Given the description of an element on the screen output the (x, y) to click on. 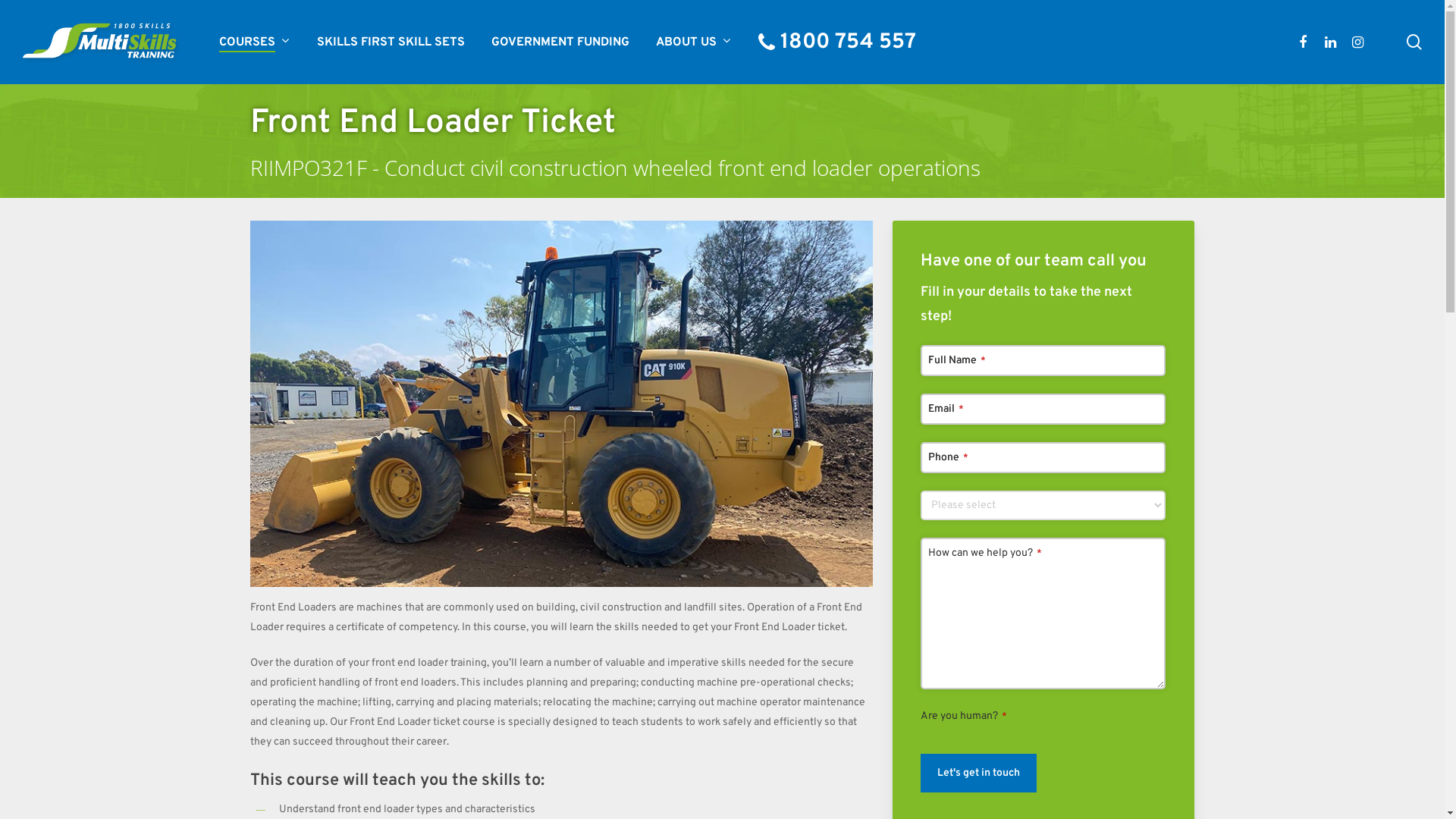
ABOUT US Element type: text (693, 41)
search Element type: text (1414, 42)
LINKEDIN Element type: text (1329, 41)
COURSES Element type: text (254, 41)
Let's get in touch Element type: text (978, 772)
INSTAGRAM Element type: text (1357, 41)
GOVERNMENT FUNDING Element type: text (560, 42)
SKILLS FIRST SKILL SETS Element type: text (390, 42)
1800 754 557 Element type: text (837, 42)
FACEBOOK Element type: text (1302, 41)
